Given the description of an element on the screen output the (x, y) to click on. 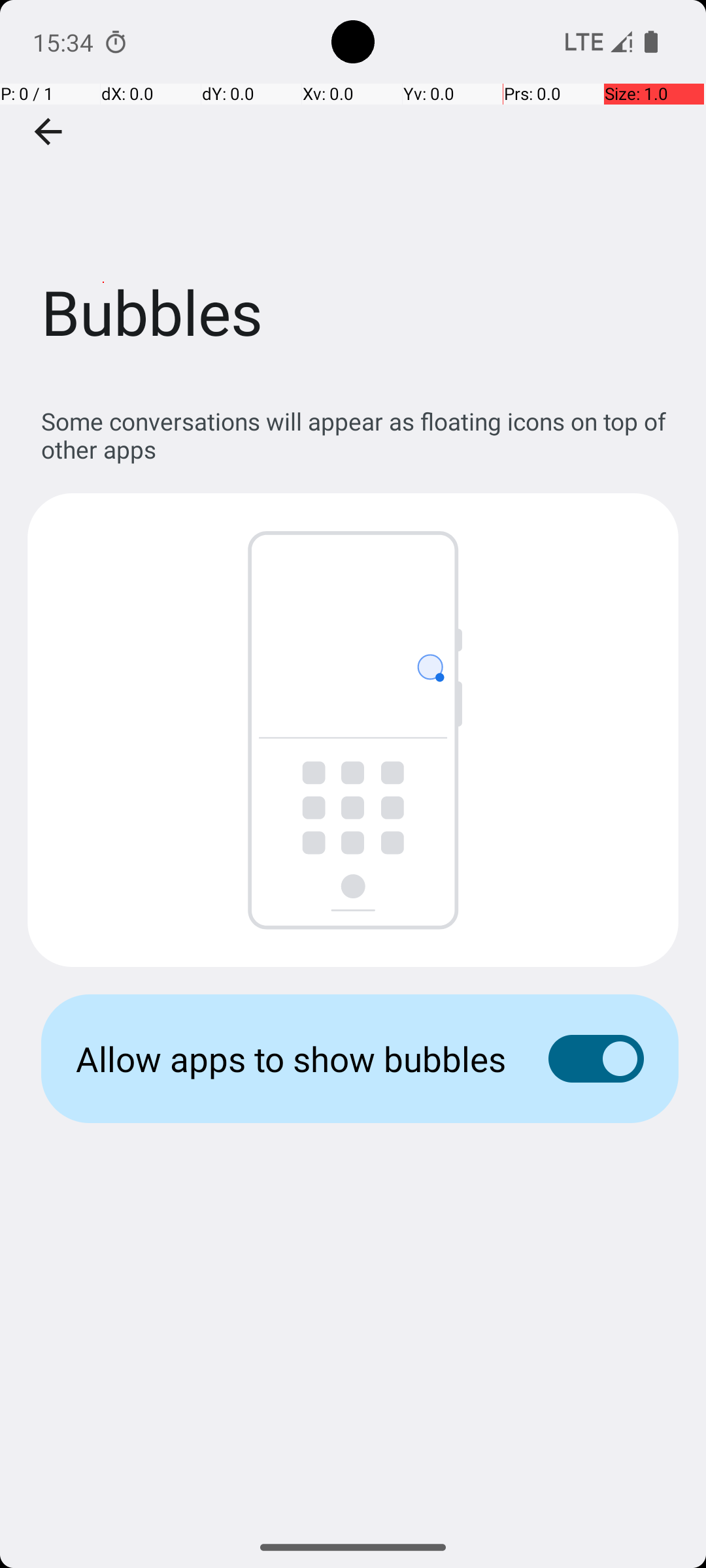
Some conversations will appear as floating icons on top of other apps Element type: android.widget.TextView (359, 434)
Allow apps to show bubbles Element type: android.widget.TextView (291, 1058)
